Given the description of an element on the screen output the (x, y) to click on. 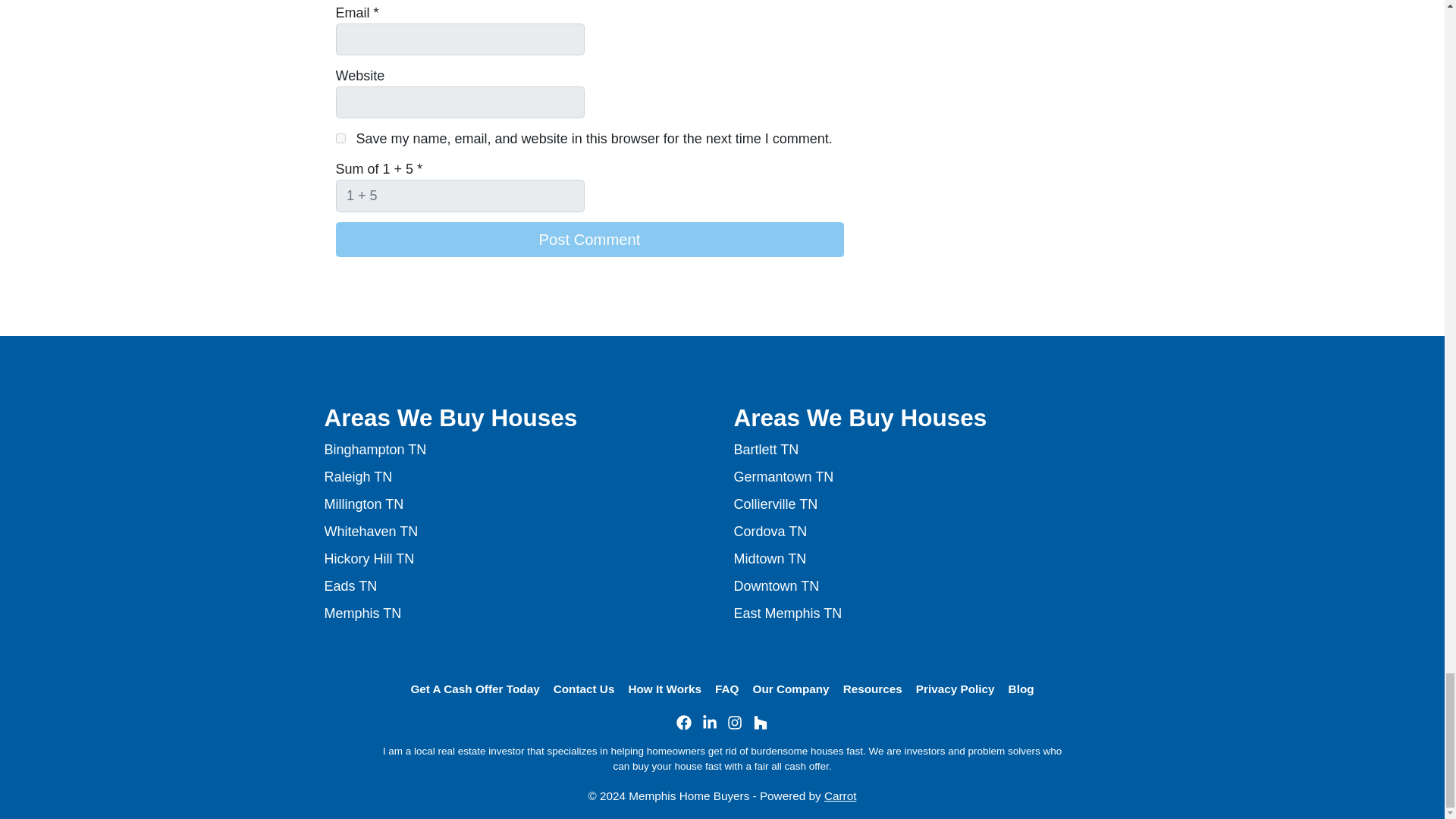
yes (339, 138)
Binghampton TN (375, 449)
Raleigh TN (358, 476)
Millington TN (364, 503)
Post Comment (588, 239)
Post Comment (588, 239)
Whitehaven TN (371, 531)
